Given the description of an element on the screen output the (x, y) to click on. 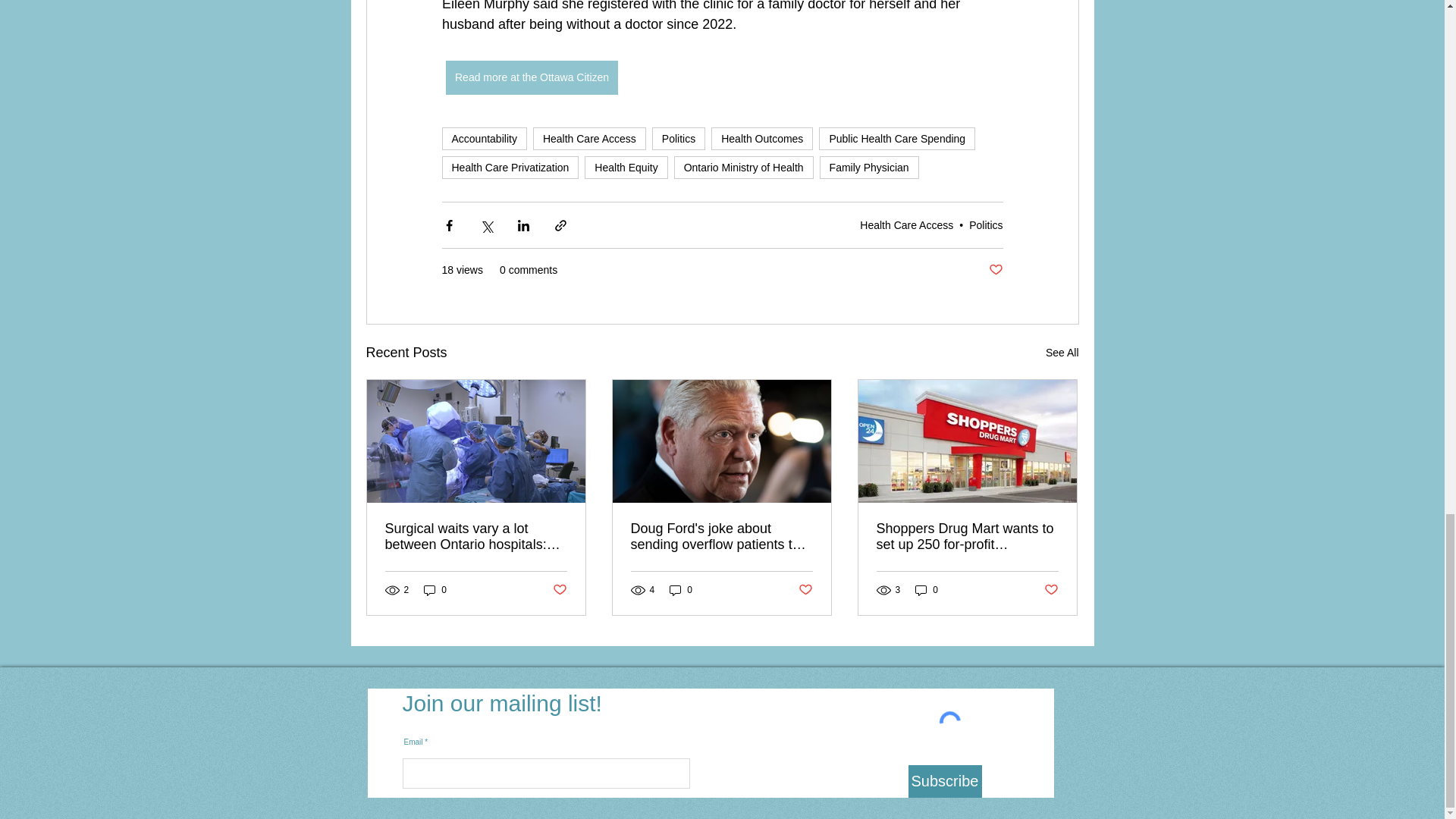
Family Physician (868, 167)
Health Care Privatization (509, 167)
Health Outcomes (761, 138)
Post not marked as liked (804, 590)
Post not marked as liked (558, 590)
See All (1061, 352)
0 (681, 590)
Health Care Access (589, 138)
Politics (986, 224)
